Given the description of an element on the screen output the (x, y) to click on. 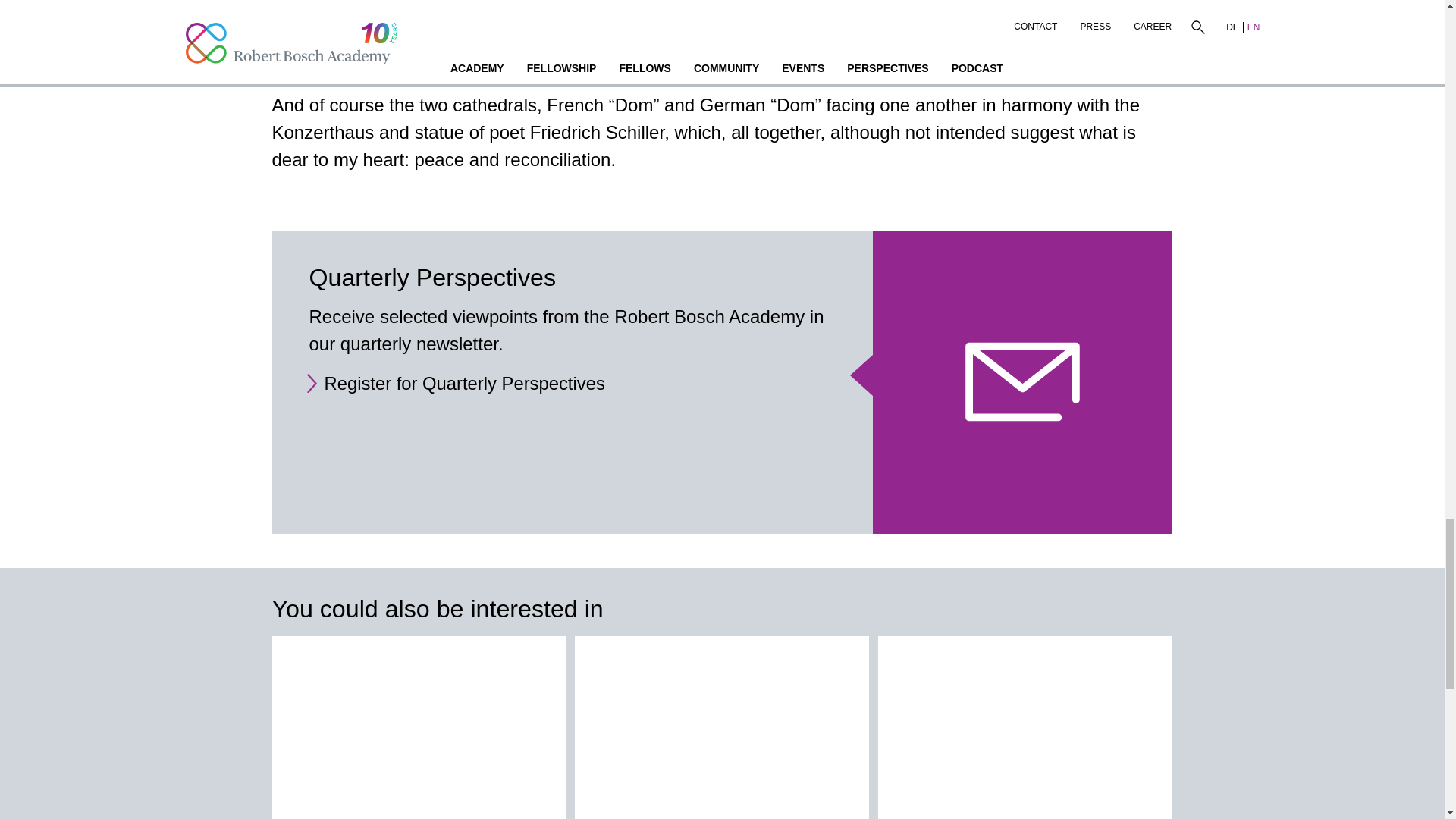
Register for Quarterly Perspectives (464, 383)
News (722, 727)
News (1024, 727)
News (418, 727)
